Given the description of an element on the screen output the (x, y) to click on. 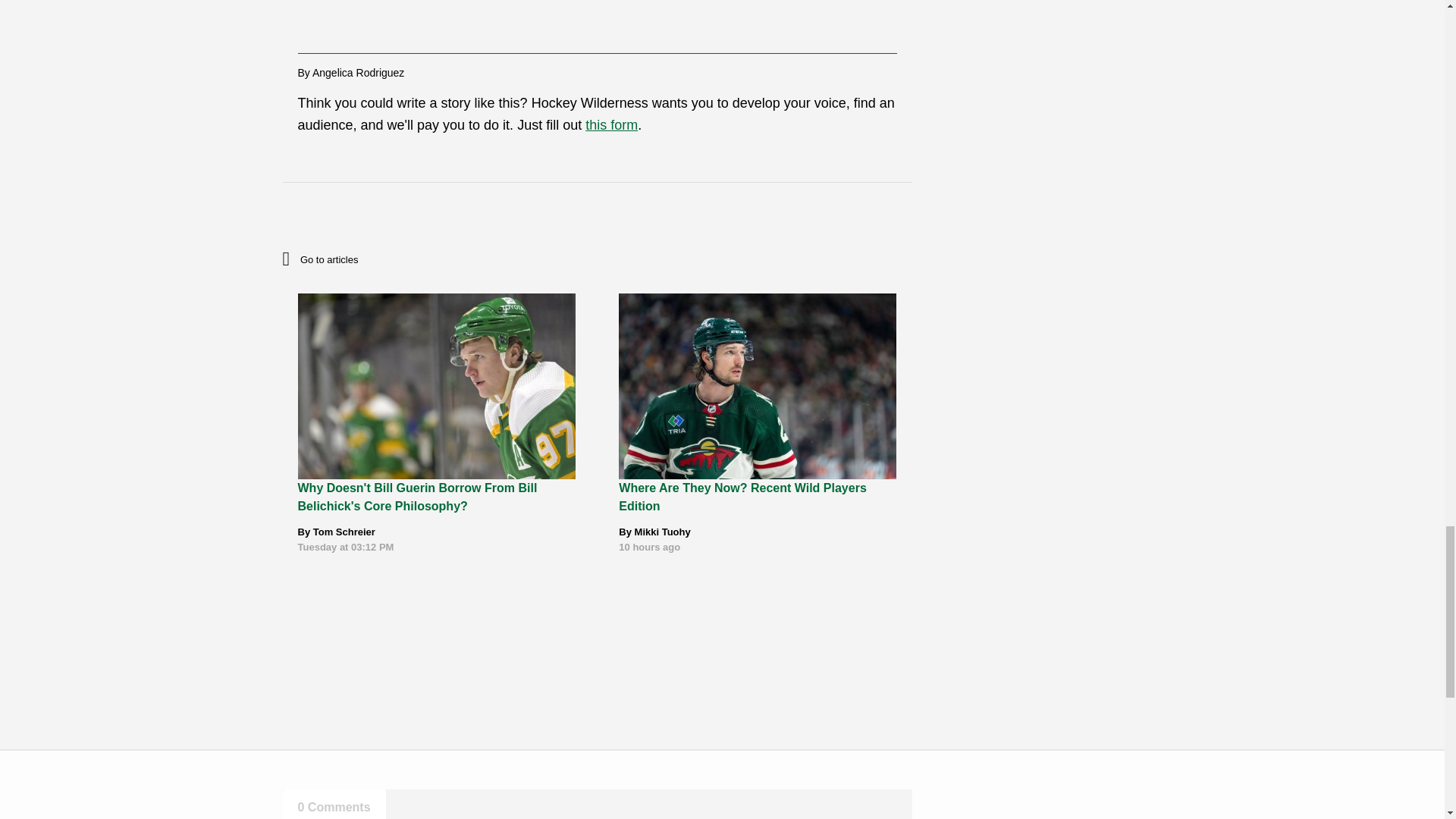
0 Comments (333, 804)
Go to Mikki Tuohy's profile (662, 531)
Go to Tom Schreier's profile (344, 531)
